Given the description of an element on the screen output the (x, y) to click on. 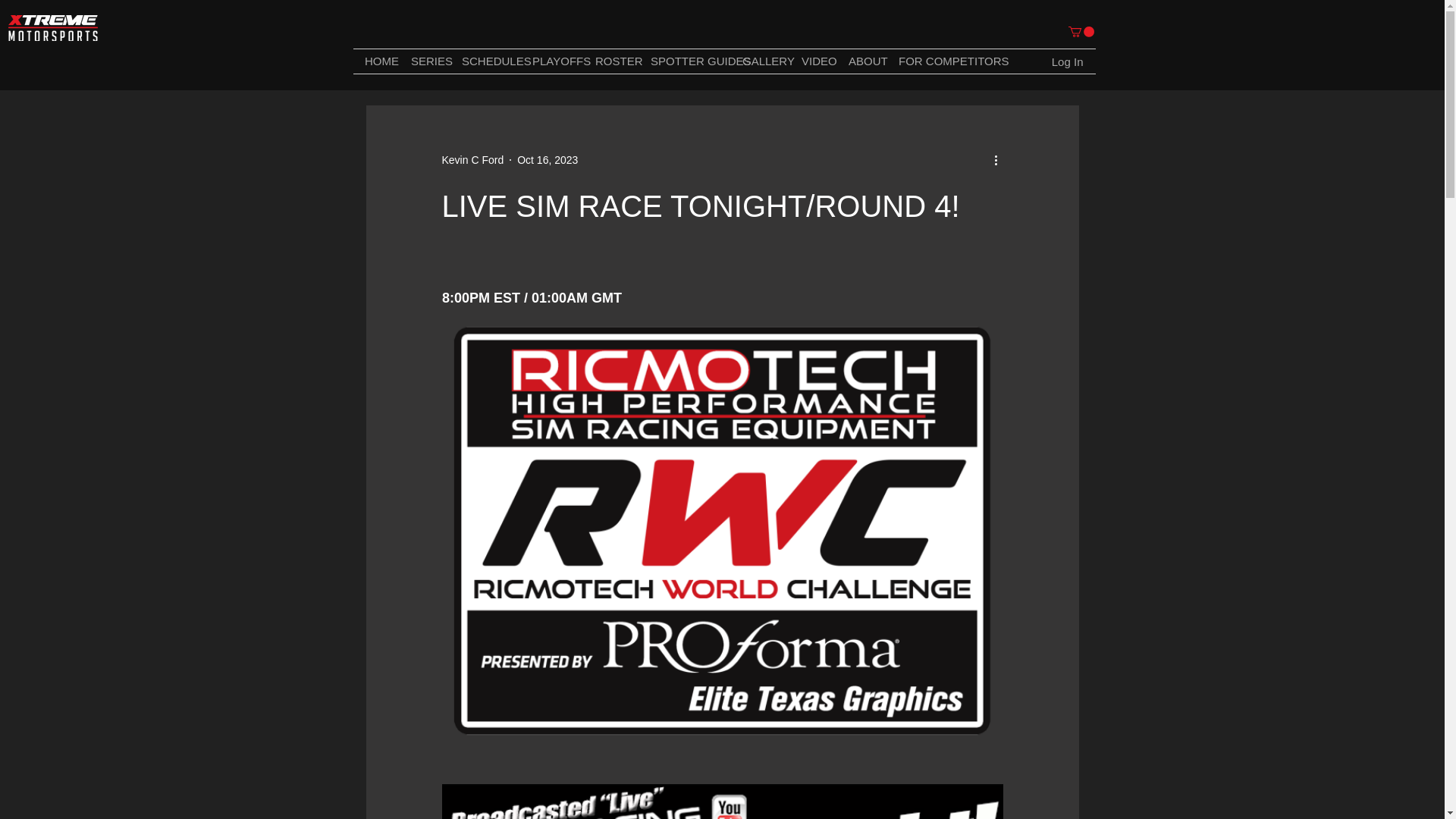
Oct 16, 2023 (547, 159)
Log In (1067, 61)
ABOUT (861, 61)
Kevin C Ford (472, 159)
FOR COMPETITORS (935, 61)
HOME (375, 61)
Kevin C Ford (472, 159)
